Given the description of an element on the screen output the (x, y) to click on. 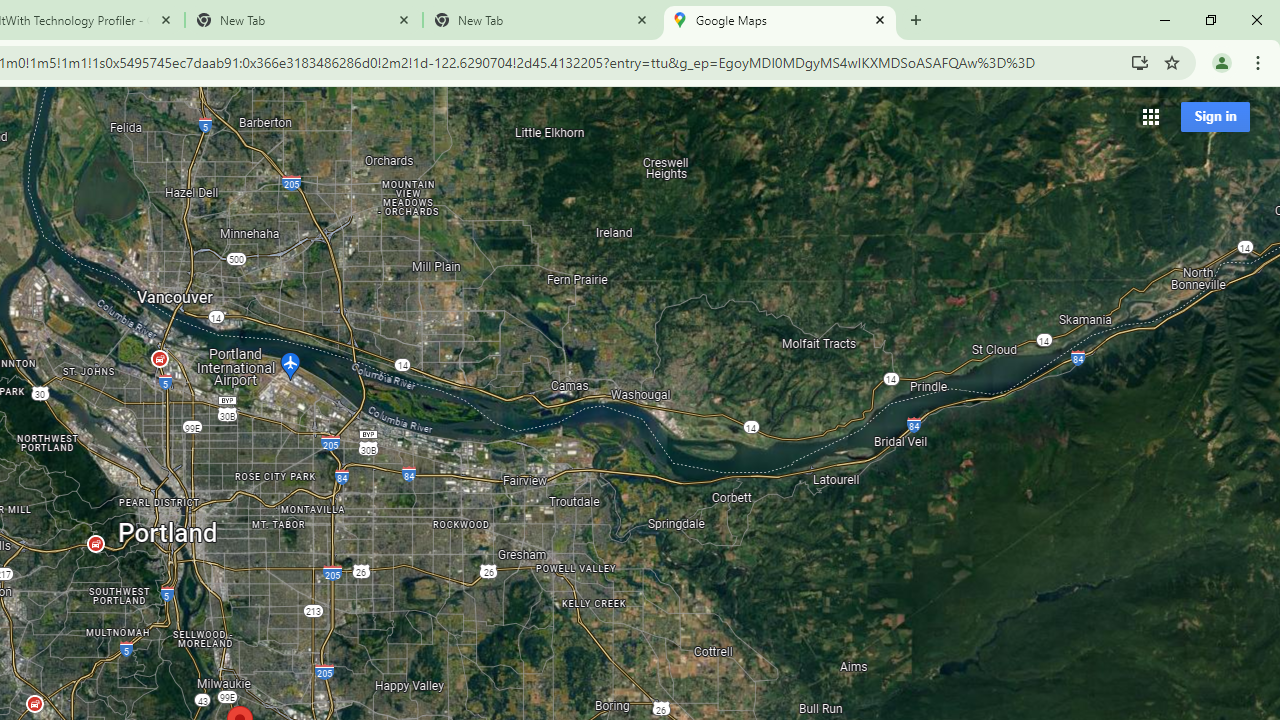
Install Google Maps (1139, 62)
Google Maps (779, 20)
New Tab (541, 20)
